Given the description of an element on the screen output the (x, y) to click on. 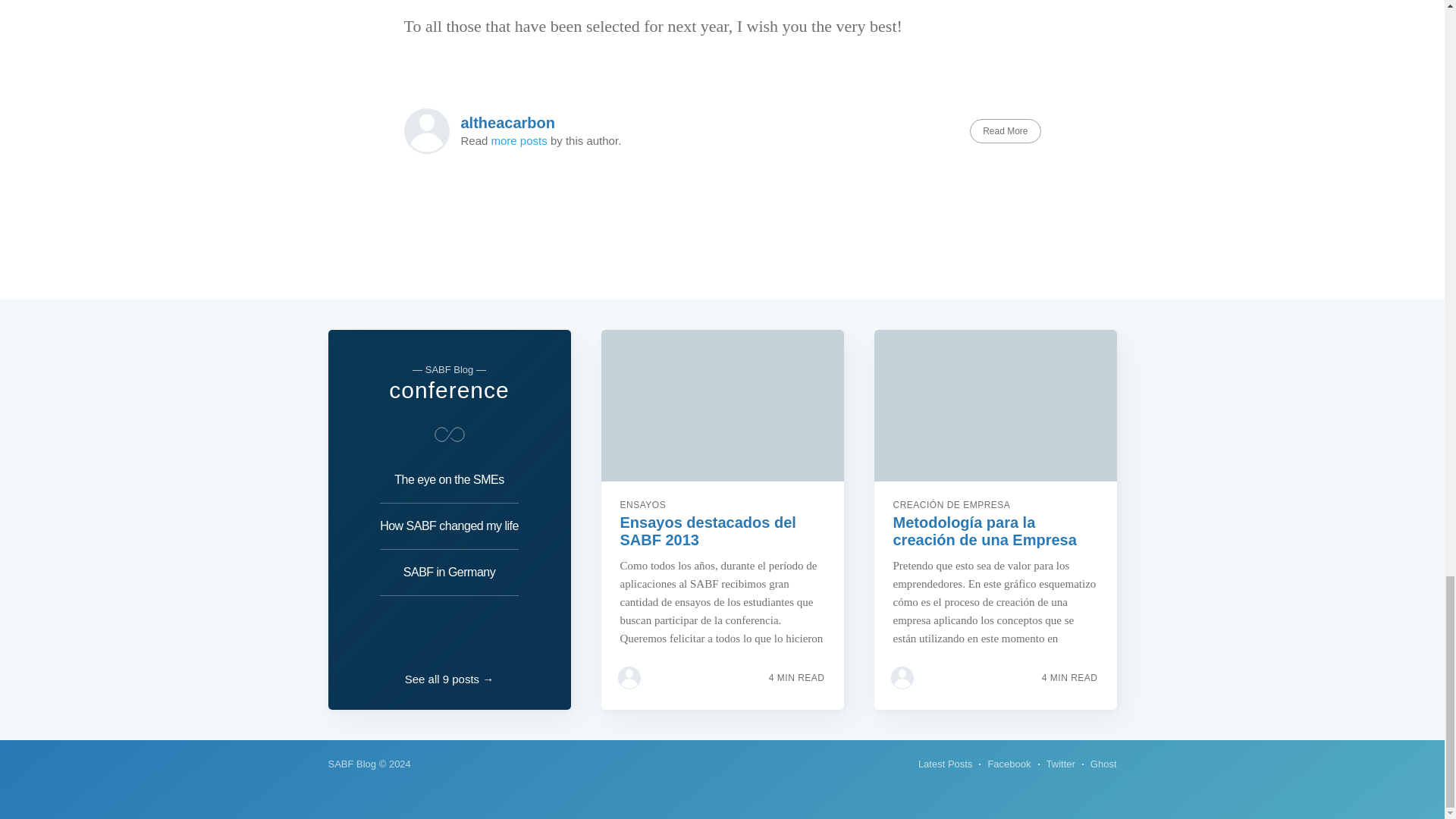
more posts (519, 140)
SABF in Germany (449, 572)
The eye on the SMEs (449, 484)
How SABF changed my life (449, 526)
Ghost (1103, 764)
Read More (1005, 130)
Twitter (1060, 764)
altheacarbon (507, 122)
conference (448, 389)
Facebook (1008, 764)
SABF Blog (351, 763)
Latest Posts (945, 764)
